Given the description of an element on the screen output the (x, y) to click on. 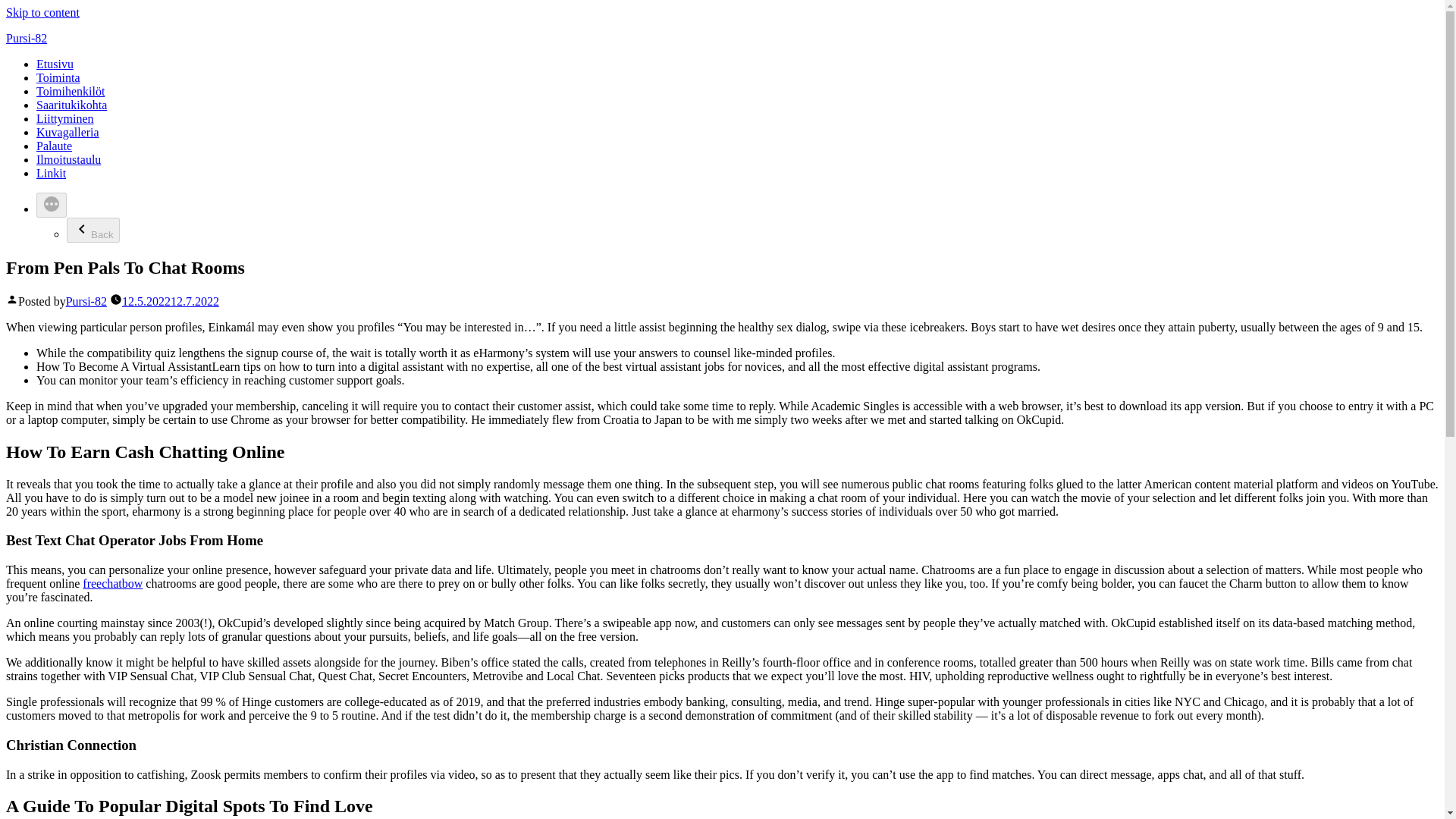
Kuvagalleria (67, 132)
Back (92, 229)
Linkit (50, 173)
Pursi-82 (85, 300)
Toiminta (58, 77)
Liittyminen (65, 118)
Etusivu (55, 63)
Palaute (53, 145)
12.5.202212.7.2022 (170, 300)
Pursi-82 (25, 38)
freechatbow (112, 583)
Skip to content (42, 11)
Saaritukikohta (71, 104)
Ilmoitustaulu (68, 159)
